Given the description of an element on the screen output the (x, y) to click on. 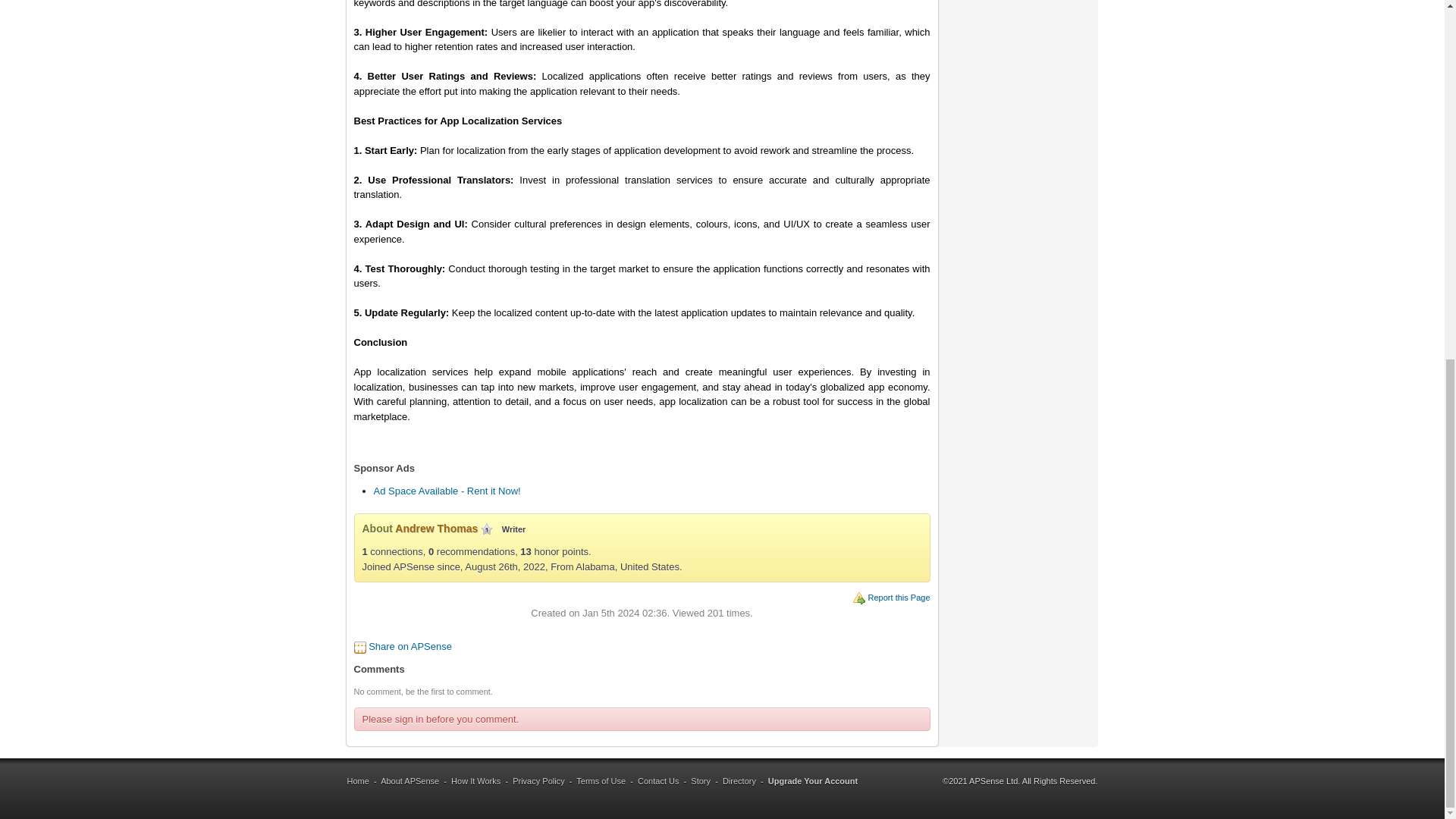
Ad Space Available - Rent it Now! (445, 490)
Share on APSense (409, 645)
Share on APSense (409, 645)
Andrew Thomas (435, 528)
Junior (486, 529)
Report this Page (898, 596)
